Given the description of an element on the screen output the (x, y) to click on. 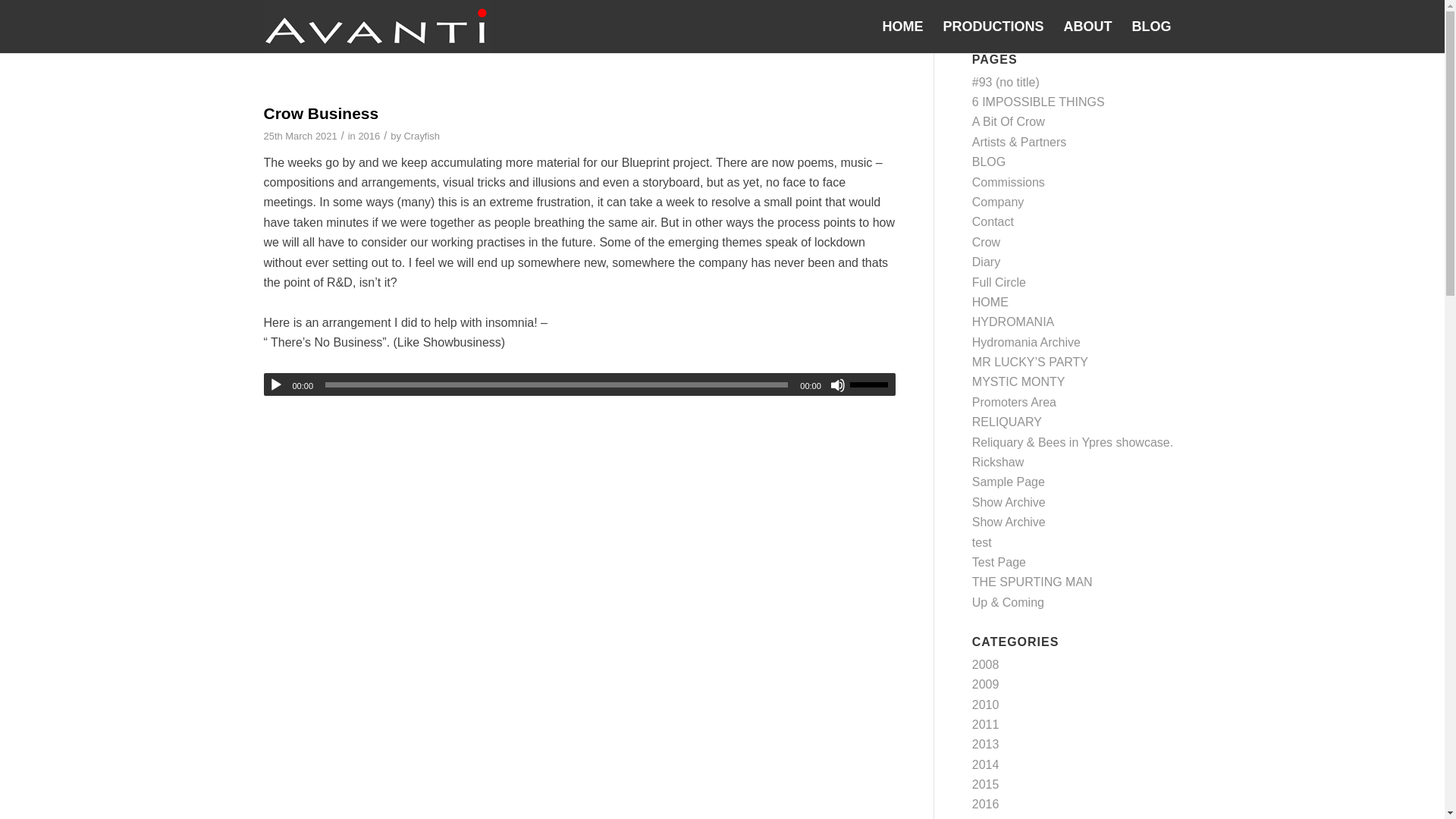
A Bit Of Crow (1008, 121)
BLOG (1151, 26)
logo (376, 26)
BLOG (989, 161)
Play (275, 385)
Posts by Crayfish (422, 135)
2016 (369, 135)
Crayfish (422, 135)
Diary (986, 261)
Mute (837, 385)
HOME (902, 26)
Commissions (1008, 182)
Crow (986, 241)
Permanent Link: Crow Business (320, 113)
6 IMPOSSIBLE THINGS (1038, 101)
